Given the description of an element on the screen output the (x, y) to click on. 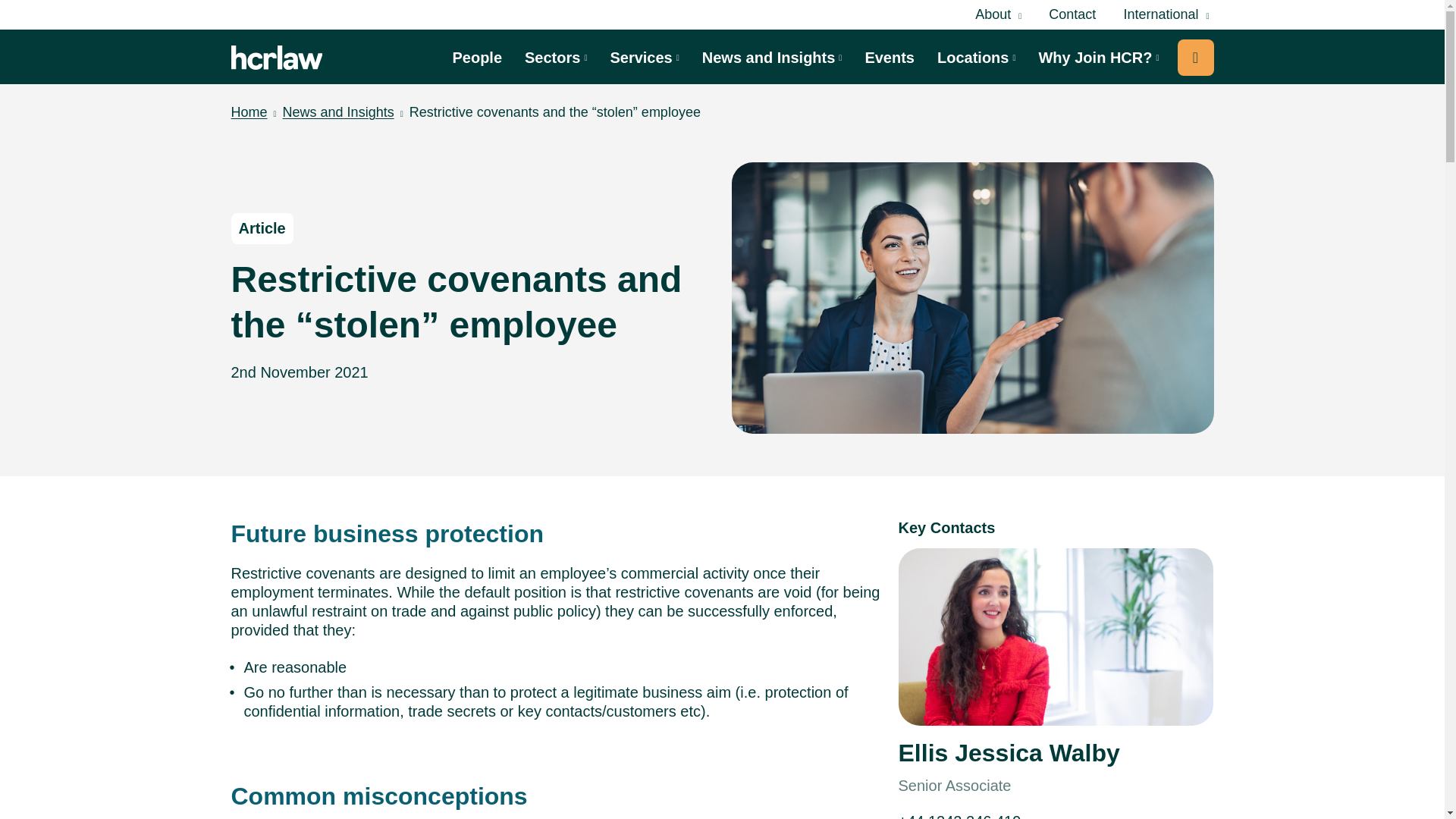
About (998, 14)
International (1165, 14)
Contact (1072, 14)
